Given the description of an element on the screen output the (x, y) to click on. 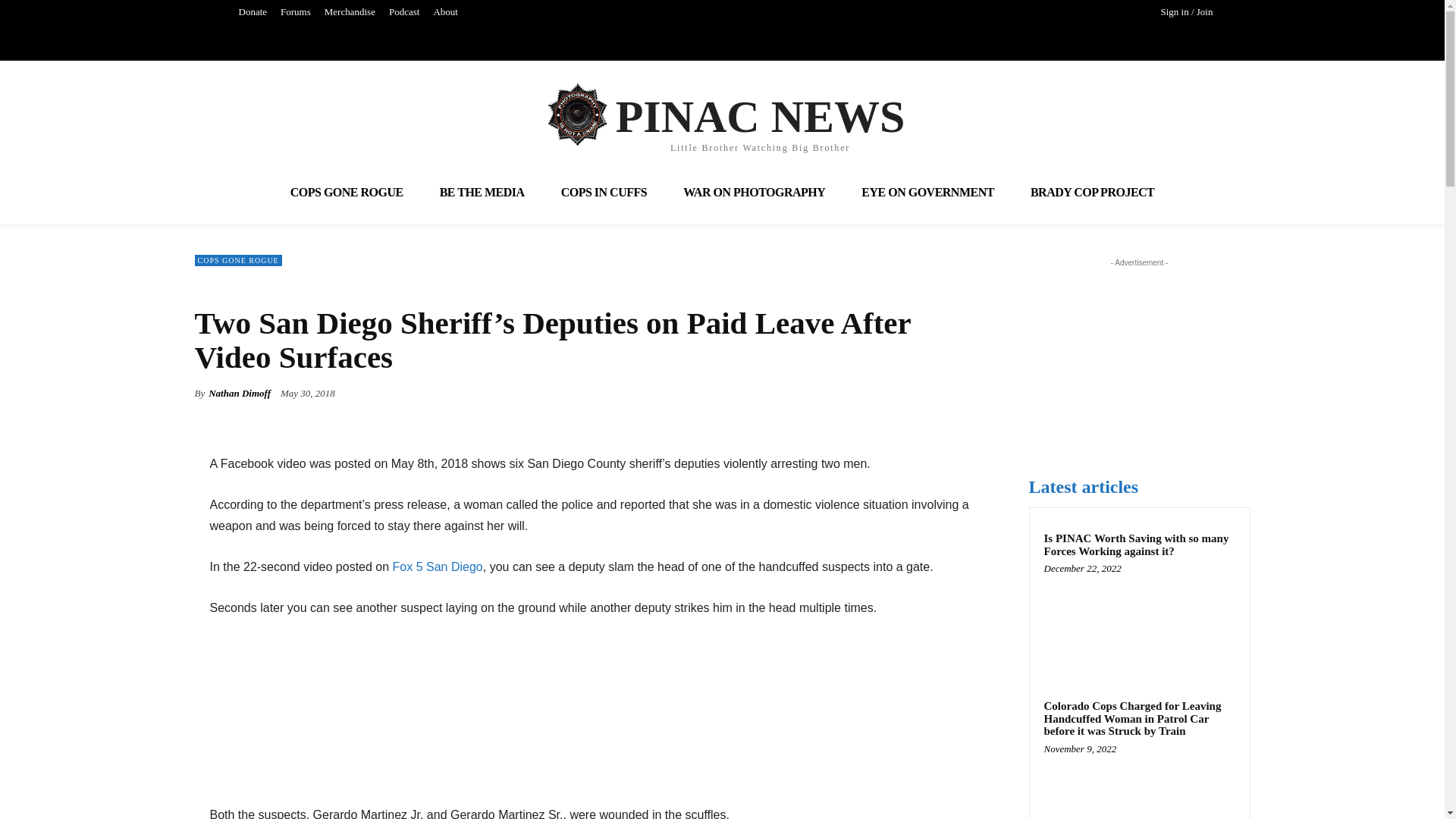
Forums (295, 12)
BRADY COP PROJECT (1091, 191)
BE THE MEDIA (482, 191)
COPS IN CUFFS (604, 191)
WAR ON PHOTOGRAPHY (754, 191)
Donate (722, 114)
EYE ON GOVERNMENT (253, 12)
Fox 5 San Diego (927, 191)
Merchandise (438, 566)
